Given the description of an element on the screen output the (x, y) to click on. 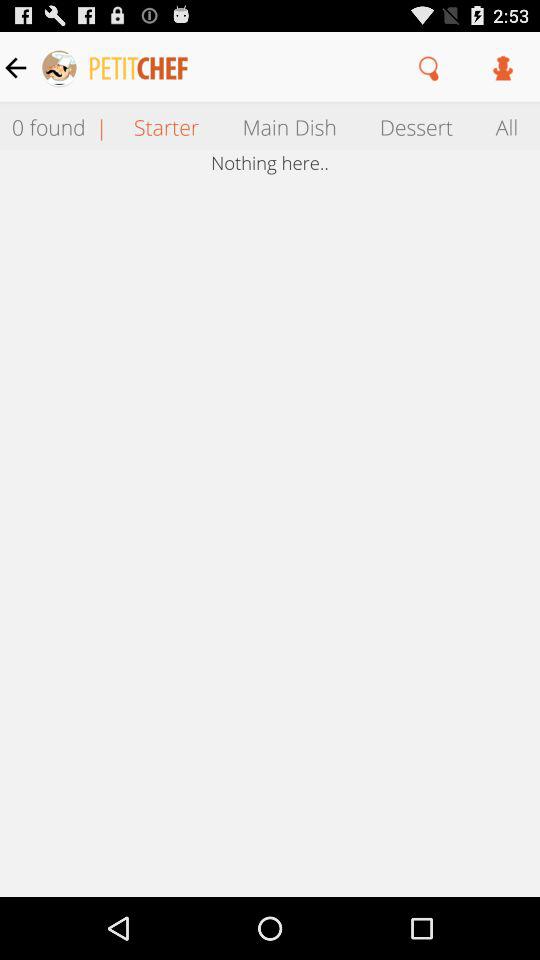
scroll to all icon (507, 126)
